Given the description of an element on the screen output the (x, y) to click on. 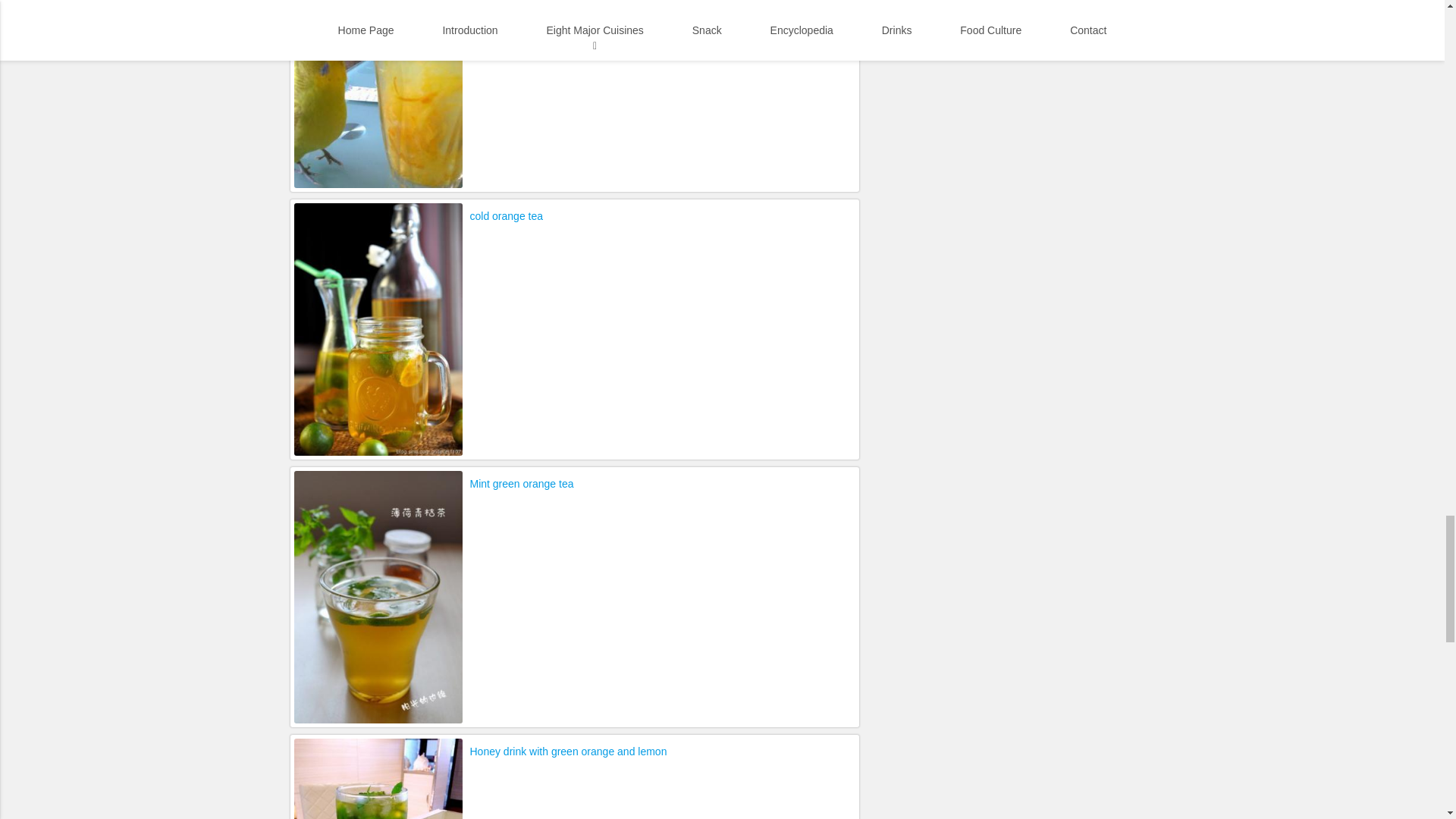
cold orange tea (506, 216)
Mint green orange tea (521, 484)
Sunshine honey and orange tea (545, 5)
Honey drink with green orange and lemon (568, 751)
